Given the description of an element on the screen output the (x, y) to click on. 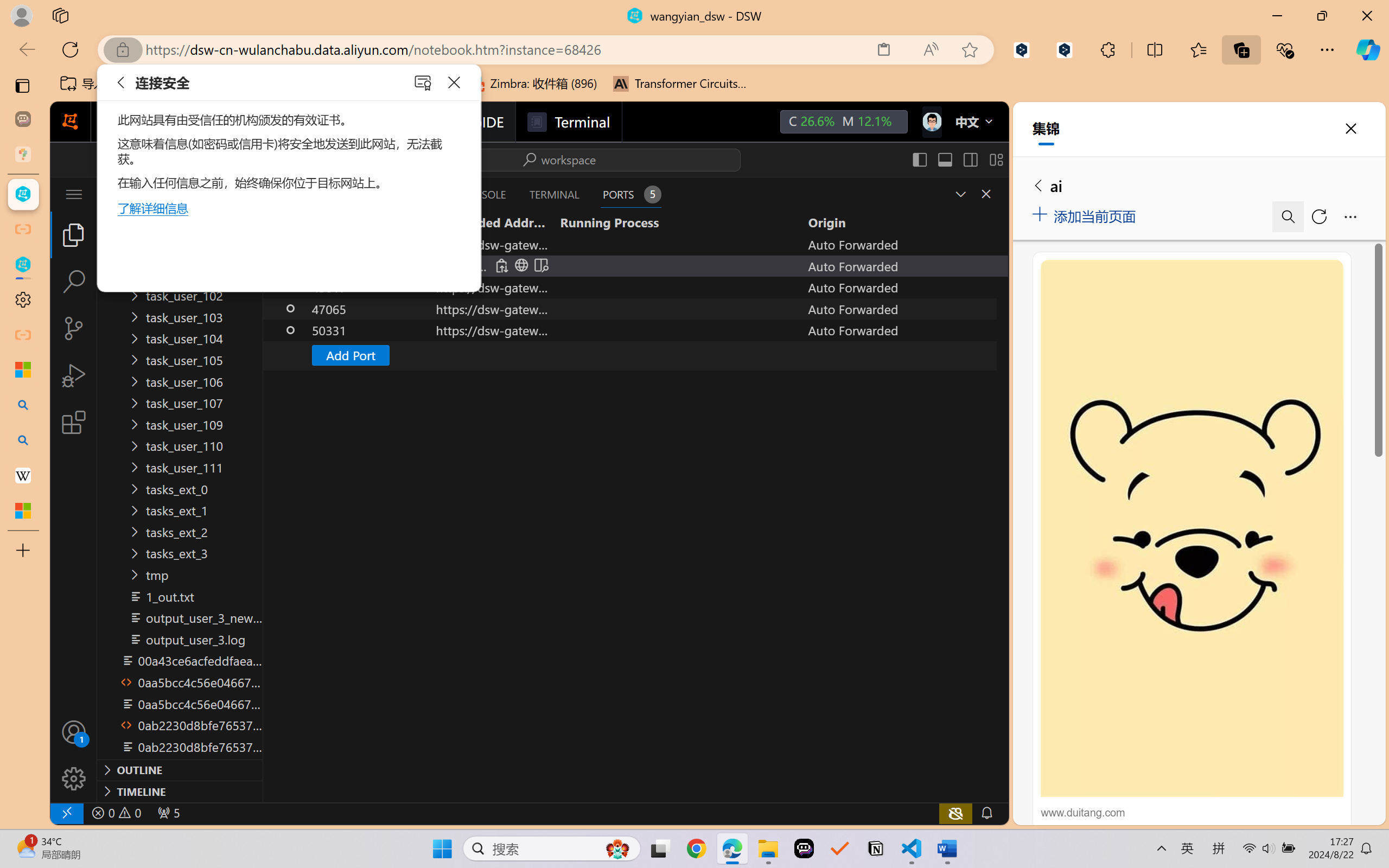
wangyian_webcrawler - DSW (22, 264)
Preview in Editor (540, 265)
